Given the description of an element on the screen output the (x, y) to click on. 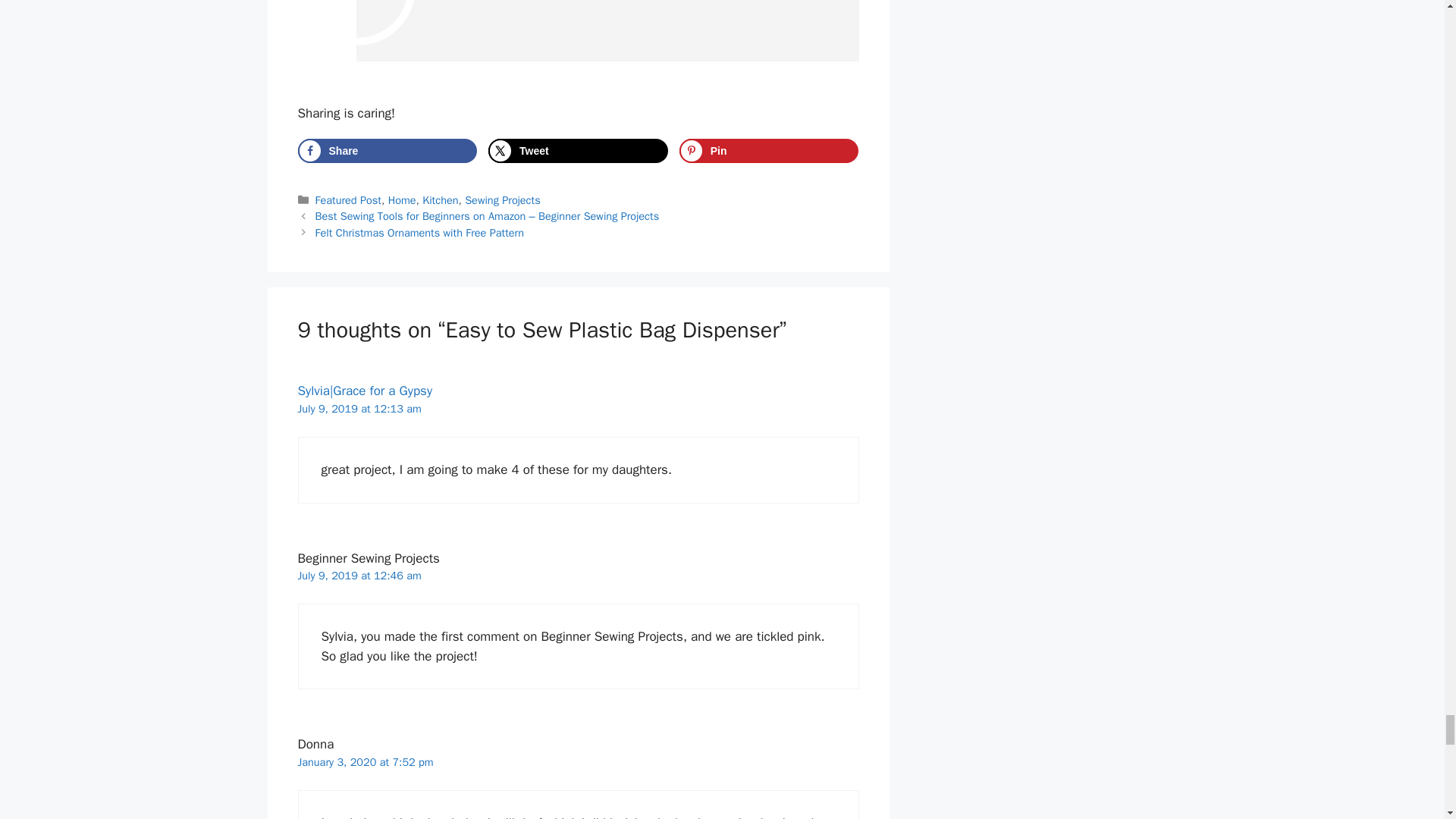
Share on X (577, 150)
Share on Facebook (387, 150)
Save to Pinterest (769, 150)
